Given the description of an element on the screen output the (x, y) to click on. 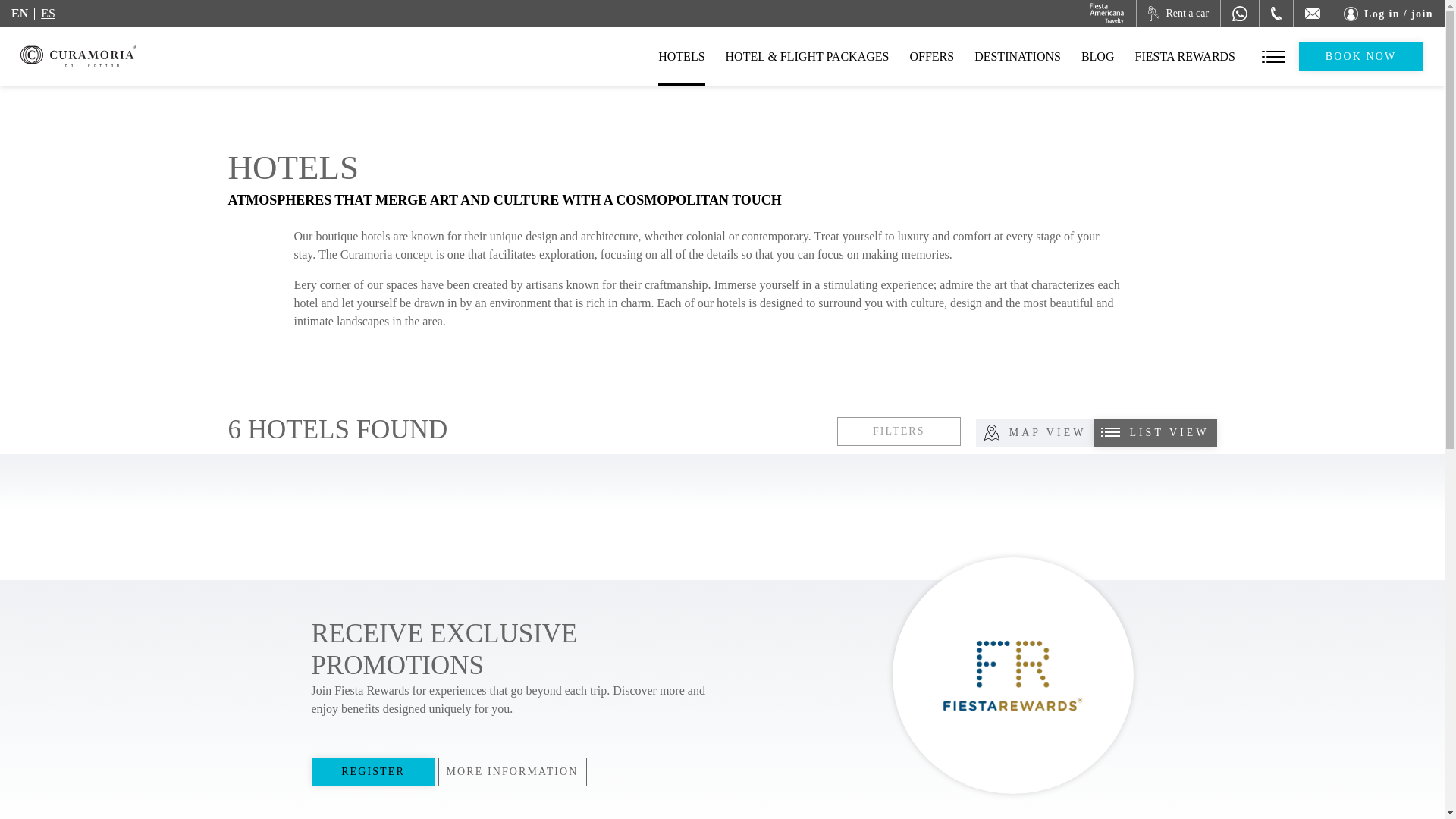
FIESTA REWARDS (1184, 56)
DESTINATIONS (1017, 56)
BOOK NOW (1360, 56)
Rent a car (1178, 13)
ES (47, 12)
